Given the description of an element on the screen output the (x, y) to click on. 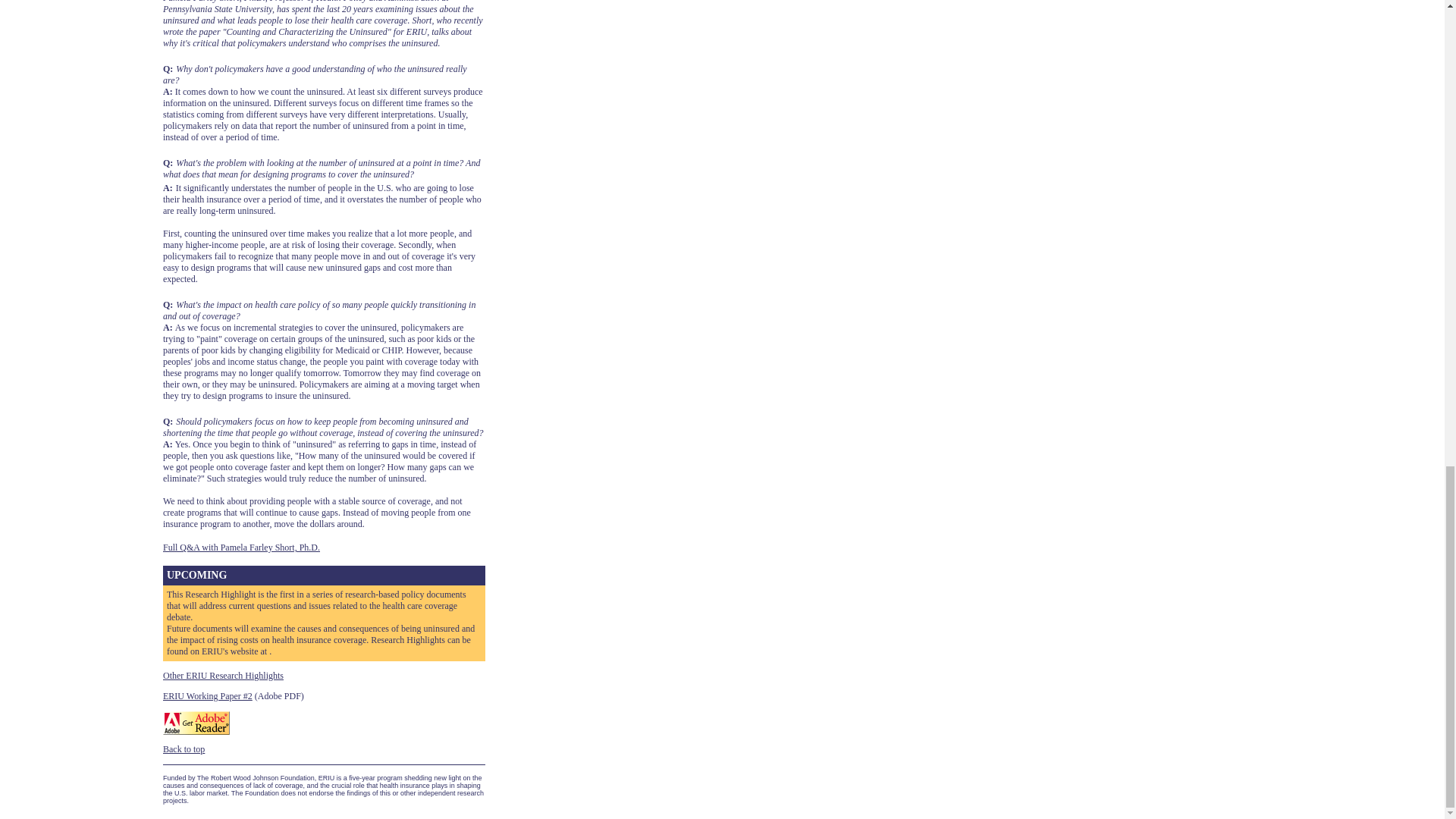
Back to top (184, 748)
Other ERIU Research Highlights (223, 675)
